Given the description of an element on the screen output the (x, y) to click on. 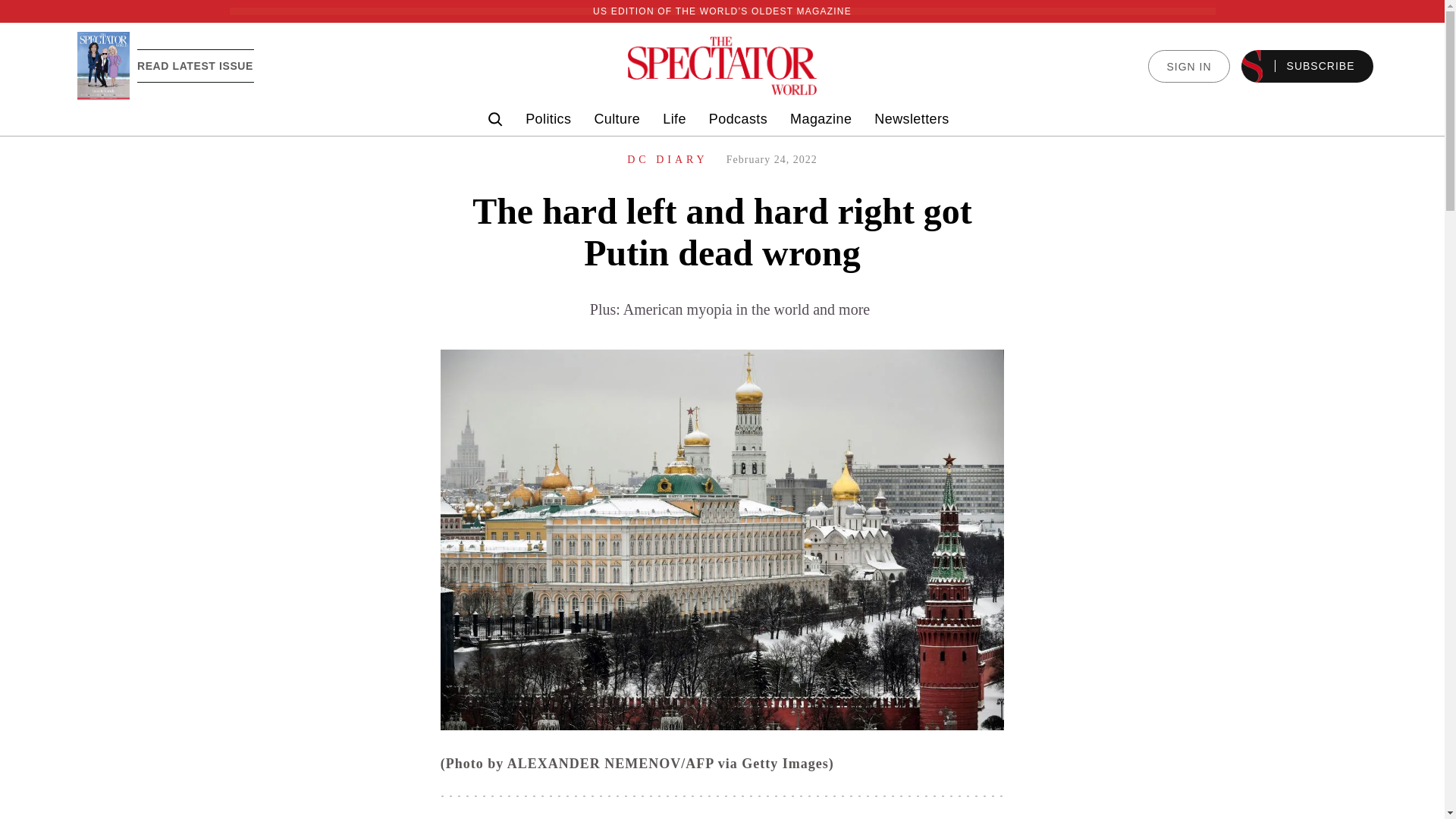
Magazine (820, 119)
Newsletters (911, 119)
SUBSCRIBE (1307, 65)
Life (673, 119)
Culture (616, 119)
DC DIARY (667, 159)
READ LATEST ISSUE (194, 65)
SIGN IN (1188, 65)
Politics (547, 119)
Podcasts (737, 119)
